Given the description of an element on the screen output the (x, y) to click on. 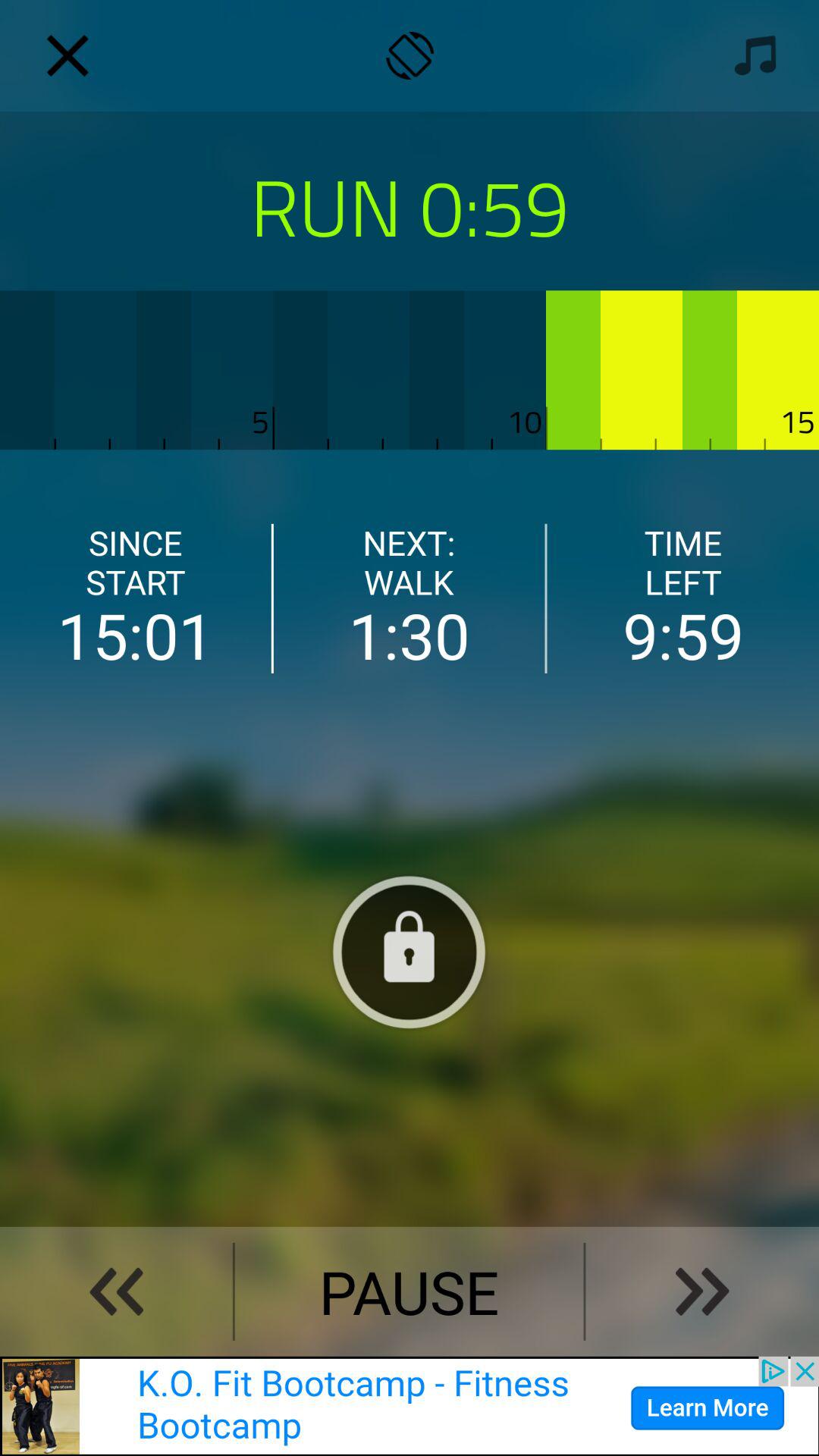
rotate orintation (409, 55)
